Given the description of an element on the screen output the (x, y) to click on. 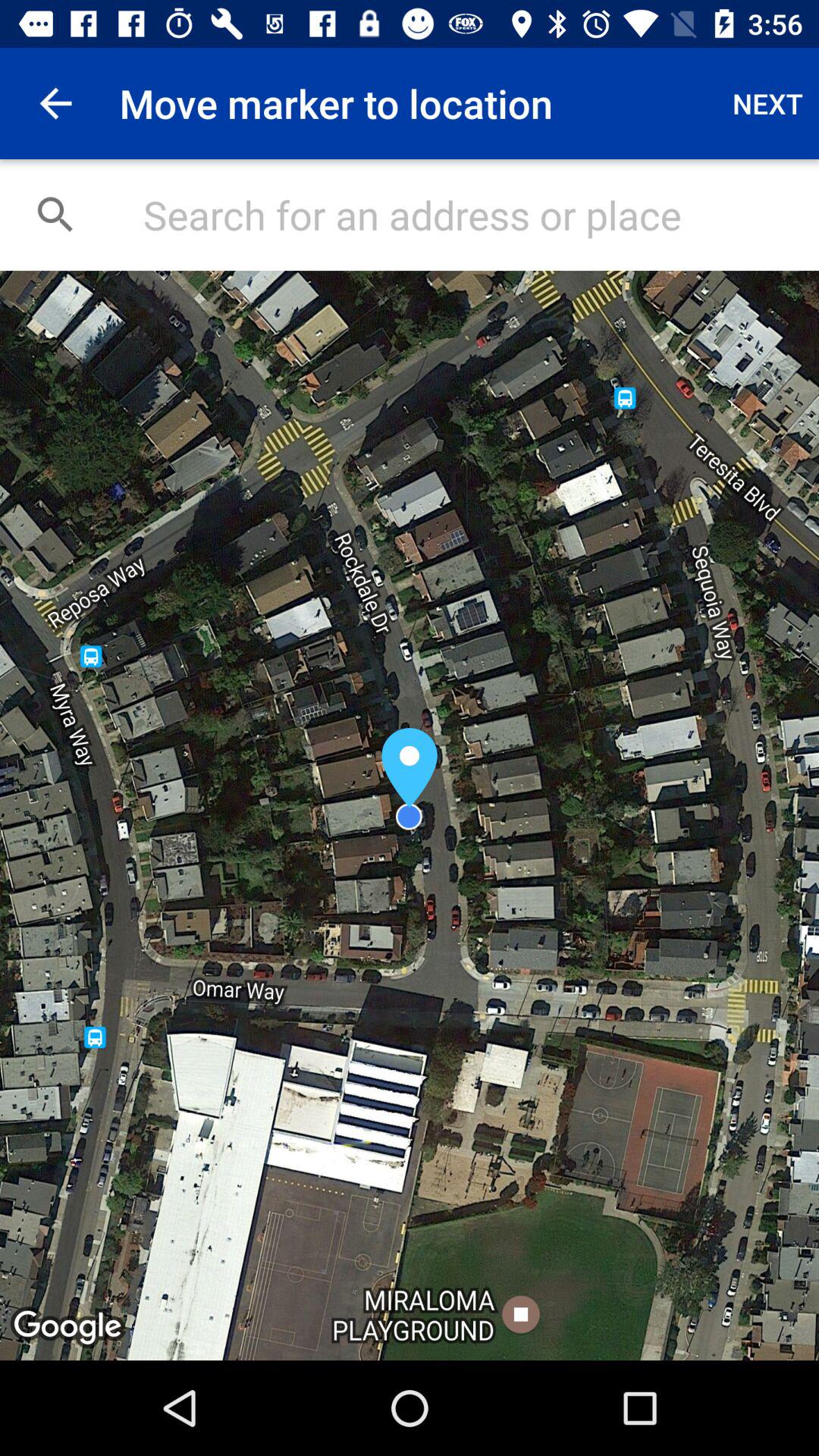
click next (767, 103)
